Given the description of an element on the screen output the (x, y) to click on. 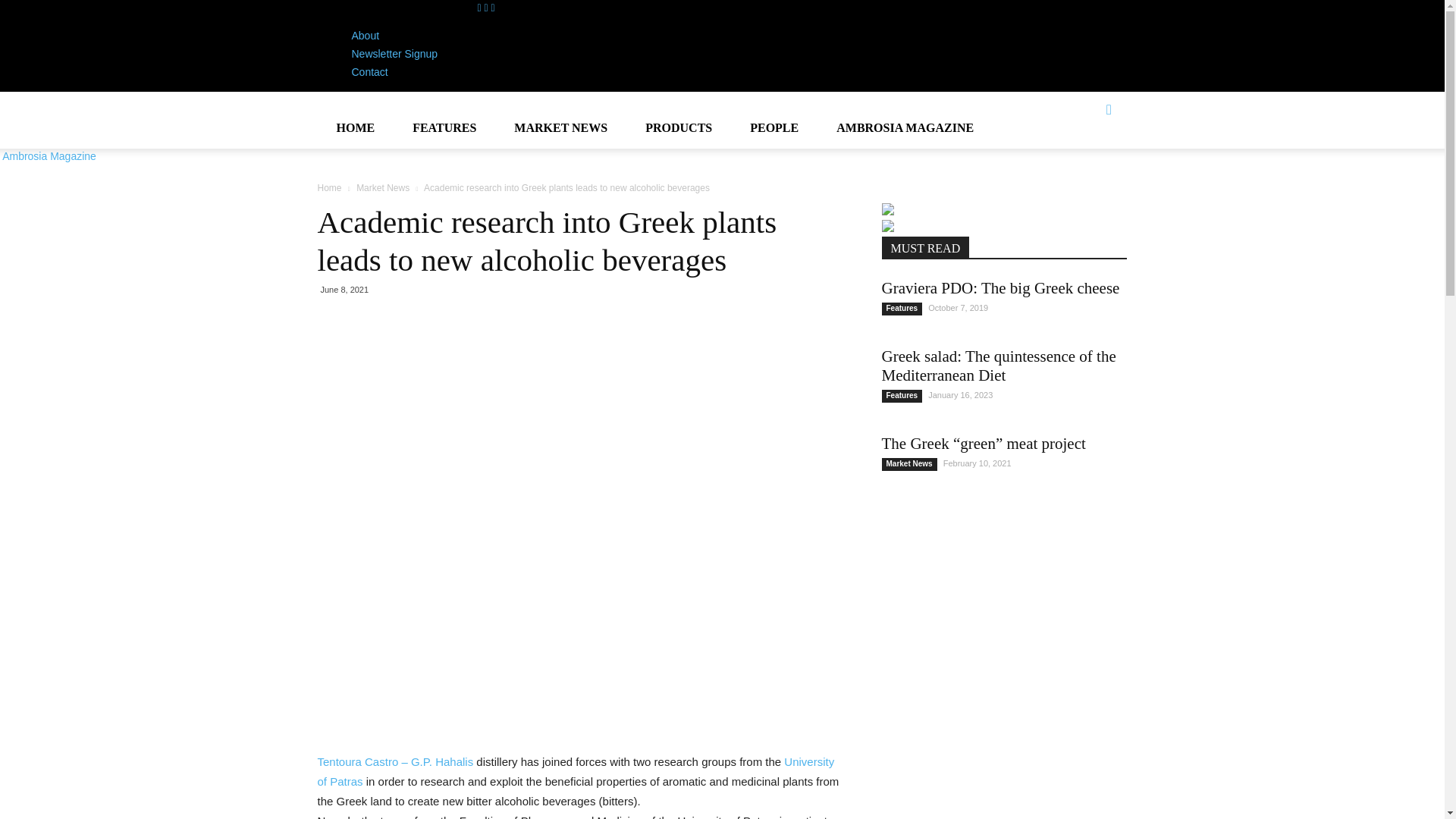
FEATURES (444, 127)
Newsletter Signup (395, 53)
About (366, 35)
Contact (370, 71)
HOME (355, 127)
